Given the description of an element on the screen output the (x, y) to click on. 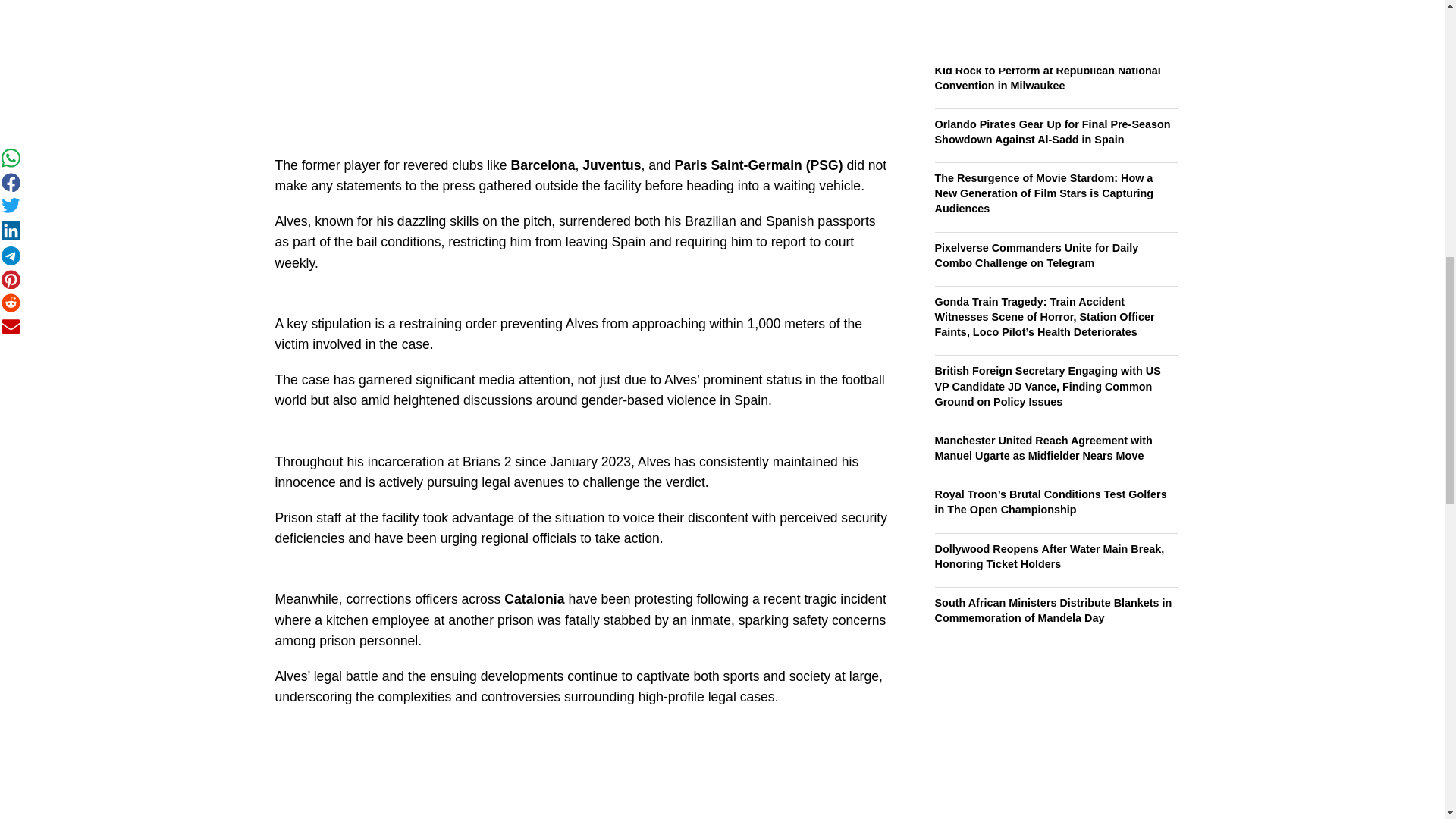
Advertisement (582, 71)
